Given the description of an element on the screen output the (x, y) to click on. 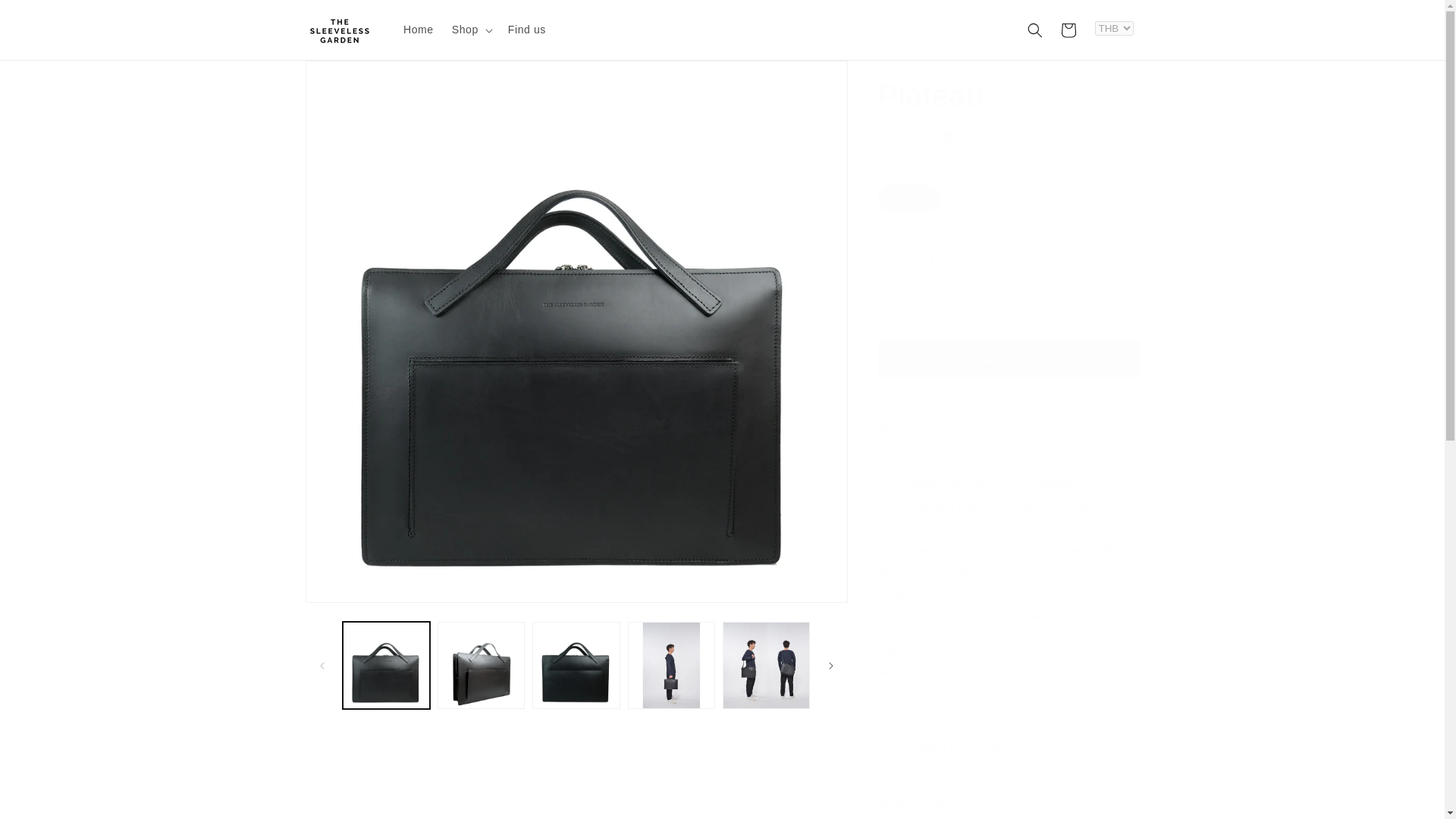
Cart (1067, 29)
1 (931, 261)
Home (418, 29)
Skip to content (45, 17)
Find us (526, 29)
